Given the description of an element on the screen output the (x, y) to click on. 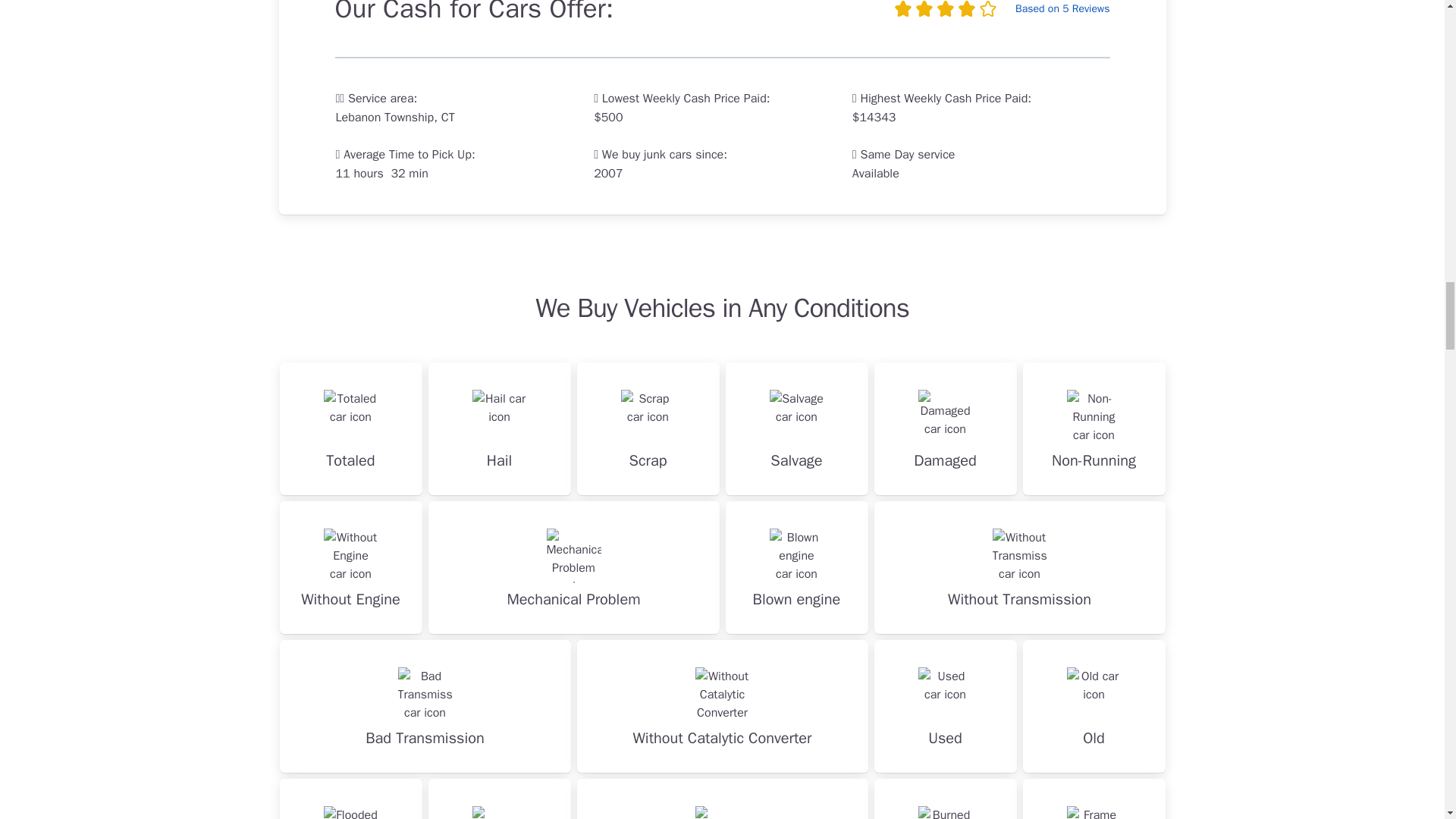
Damaged (944, 428)
Mechanical Problem (573, 567)
Bad Transmission (424, 706)
Hail (499, 428)
Without Engine (350, 567)
Non-Running (1093, 428)
Without Transmission (1018, 567)
Totaled (350, 428)
Salvage (796, 428)
Scrap (647, 428)
Blown engine (796, 567)
